Given the description of an element on the screen output the (x, y) to click on. 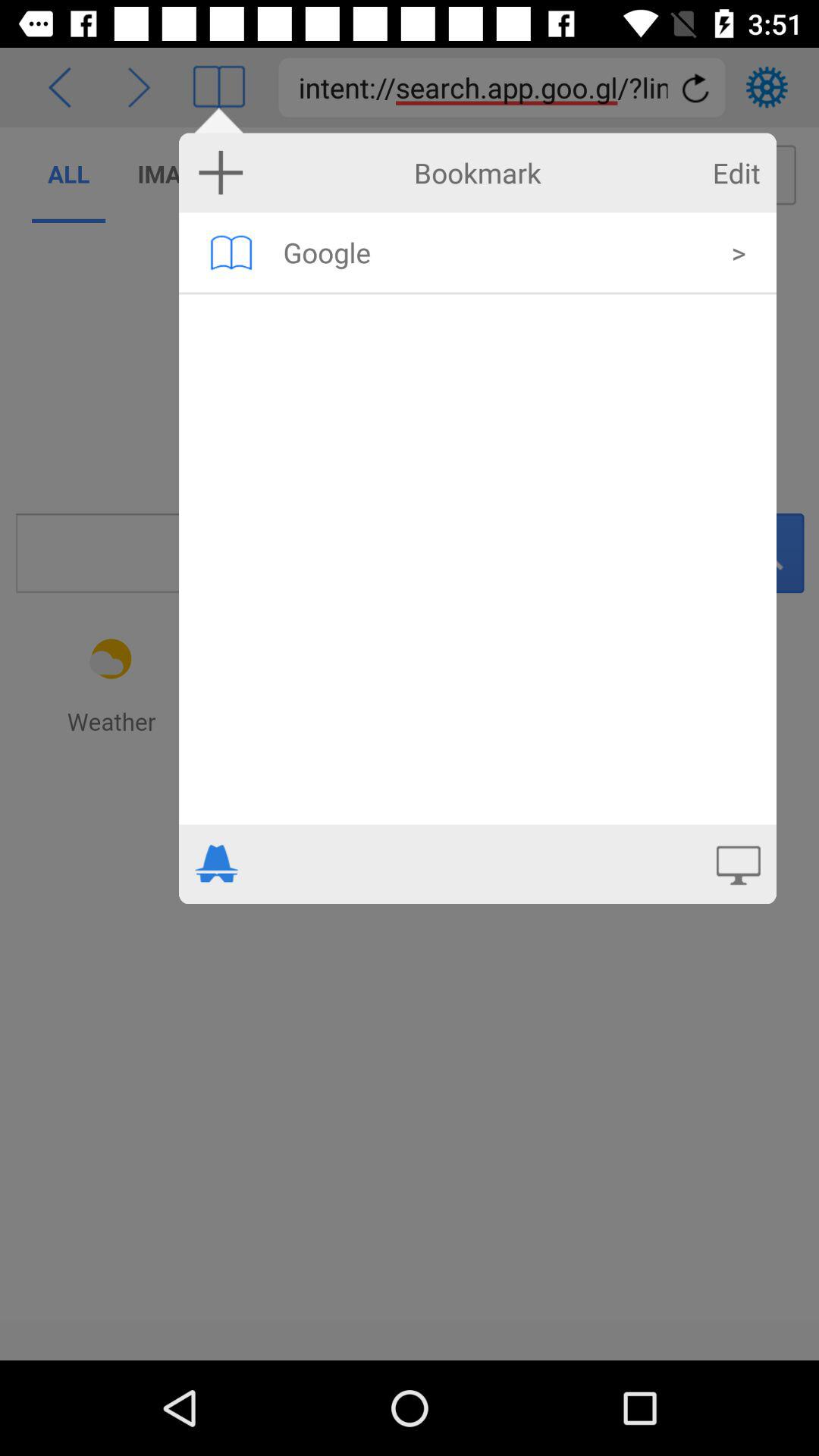
open the icon next to bookmark item (736, 172)
